Given the description of an element on the screen output the (x, y) to click on. 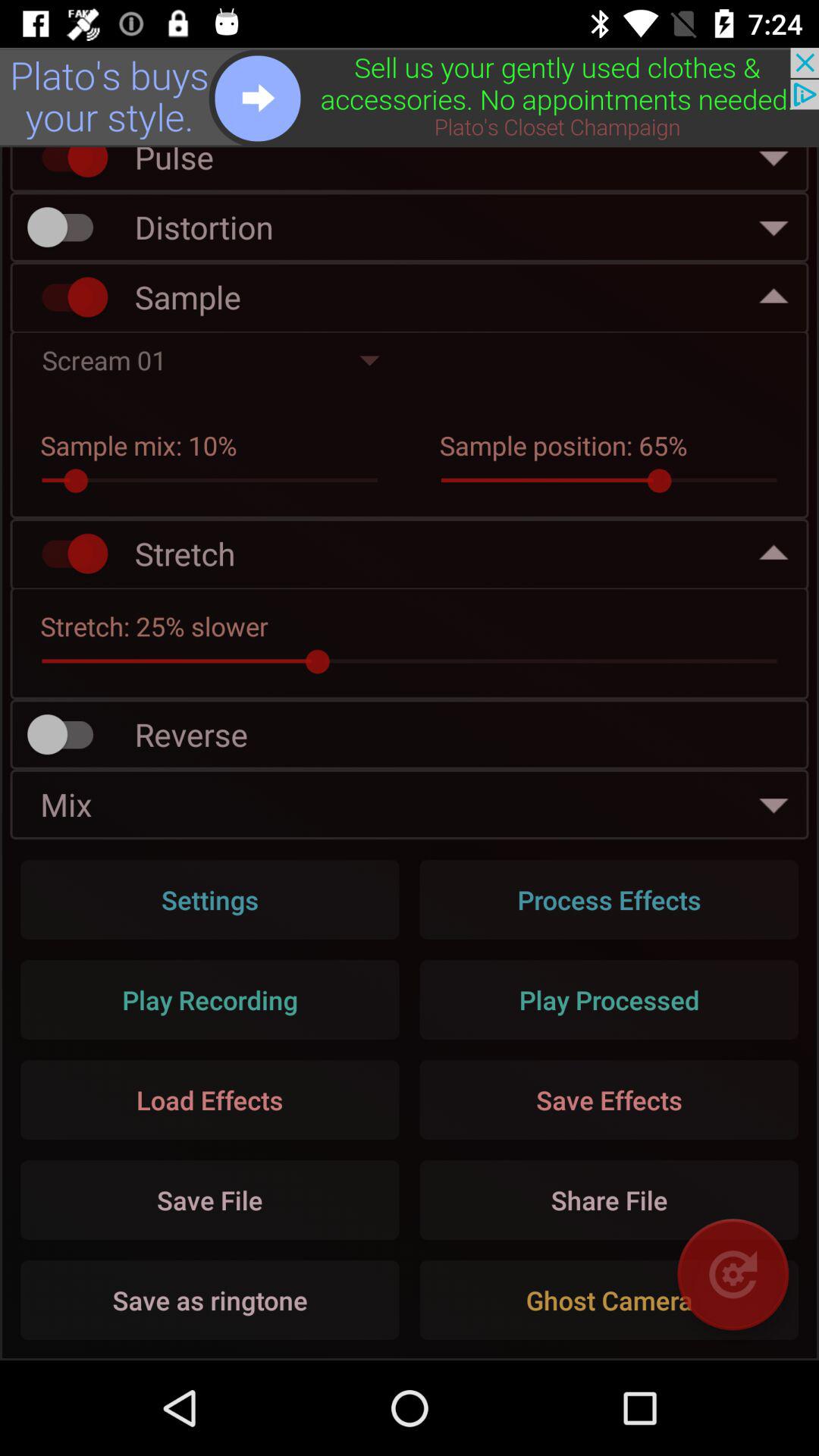
open advertisement (409, 97)
